Given the description of an element on the screen output the (x, y) to click on. 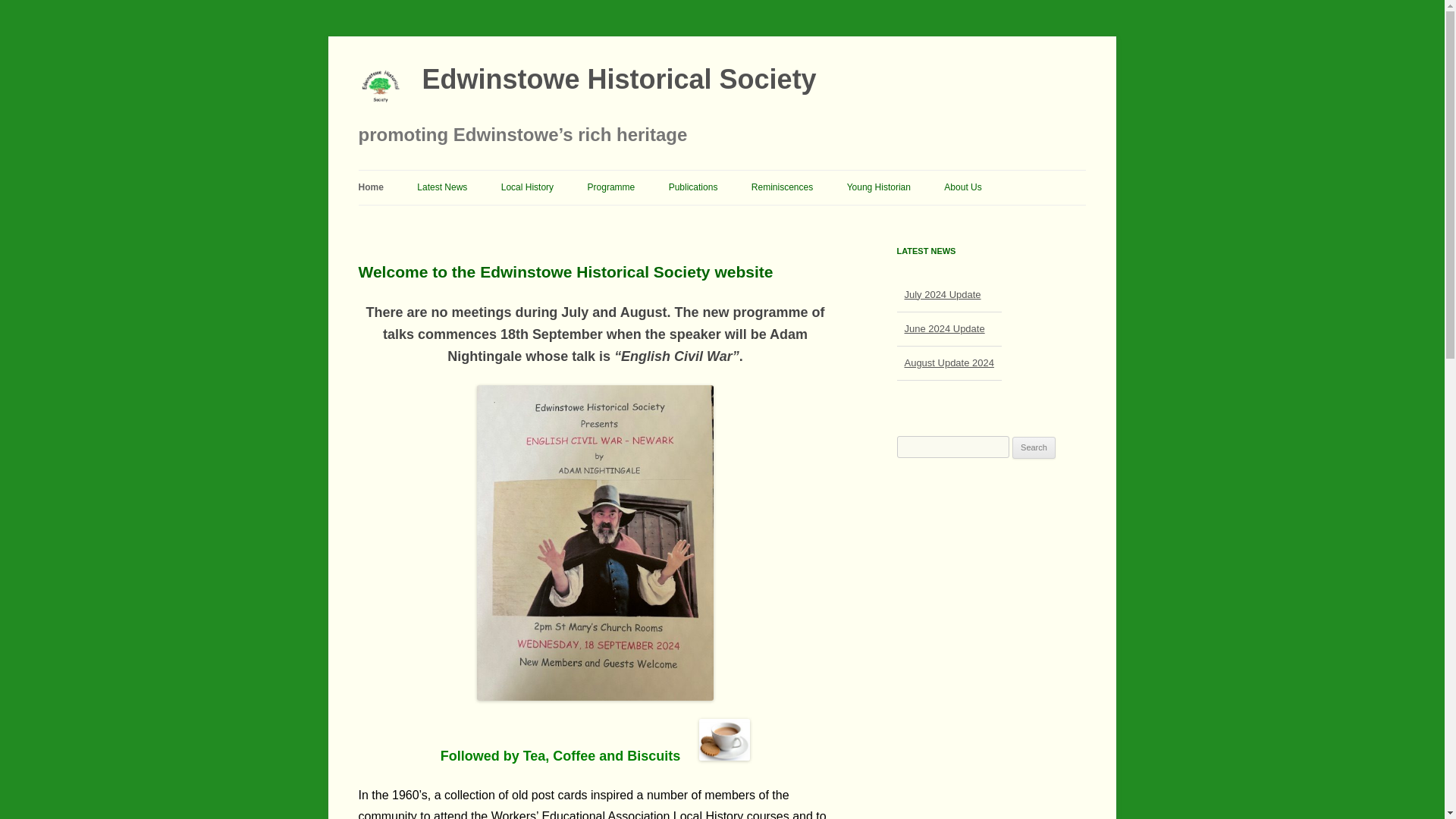
Search (1033, 447)
Timeline (991, 338)
Skip to content (576, 219)
Latest News (991, 338)
Edwinstowe Historical Society (441, 186)
Local History (586, 85)
